Given the description of an element on the screen output the (x, y) to click on. 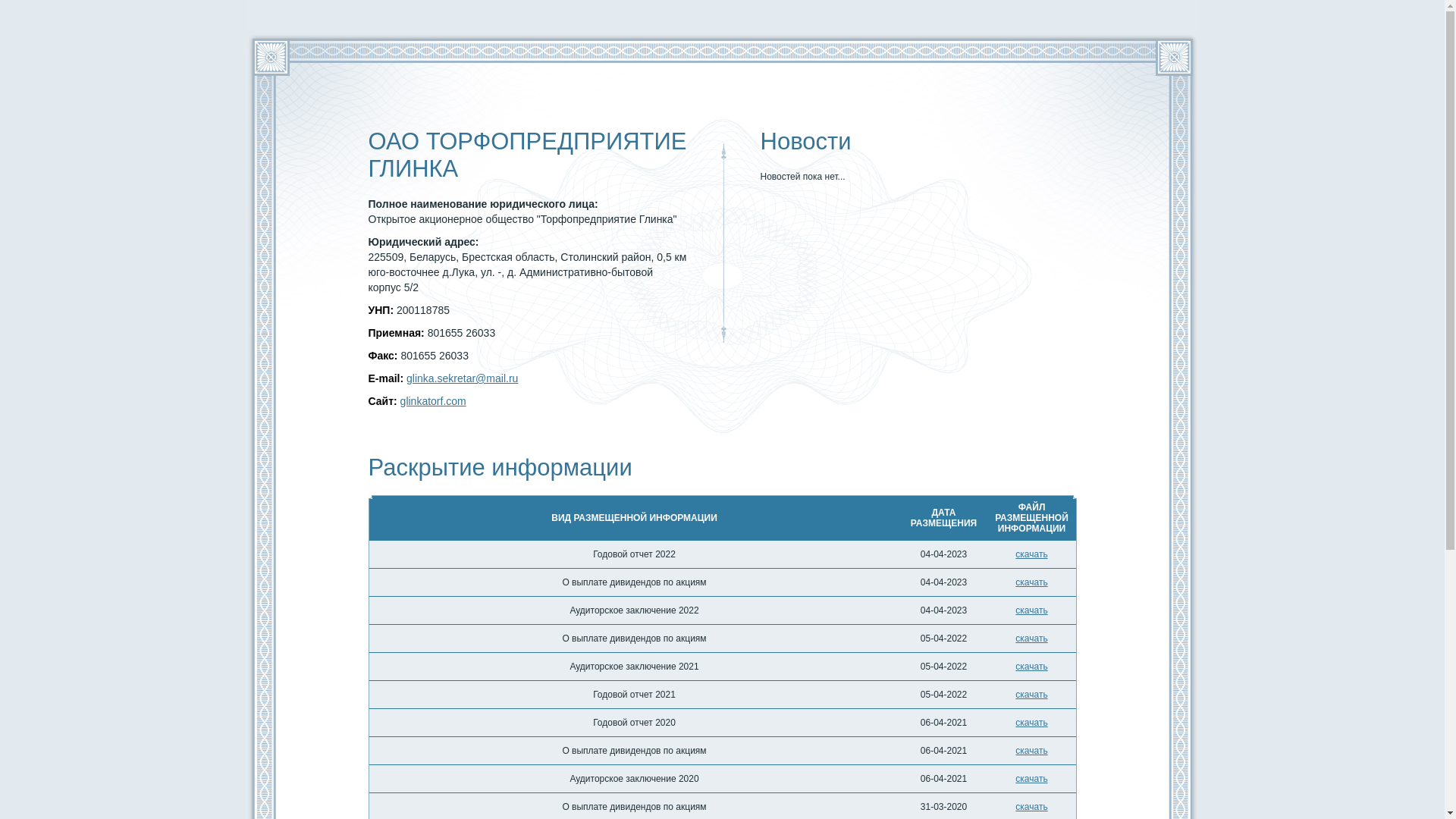
glinka.sekretar@mail.ru Element type: text (461, 378)
glinkatorf.com Element type: text (433, 401)
